Given the description of an element on the screen output the (x, y) to click on. 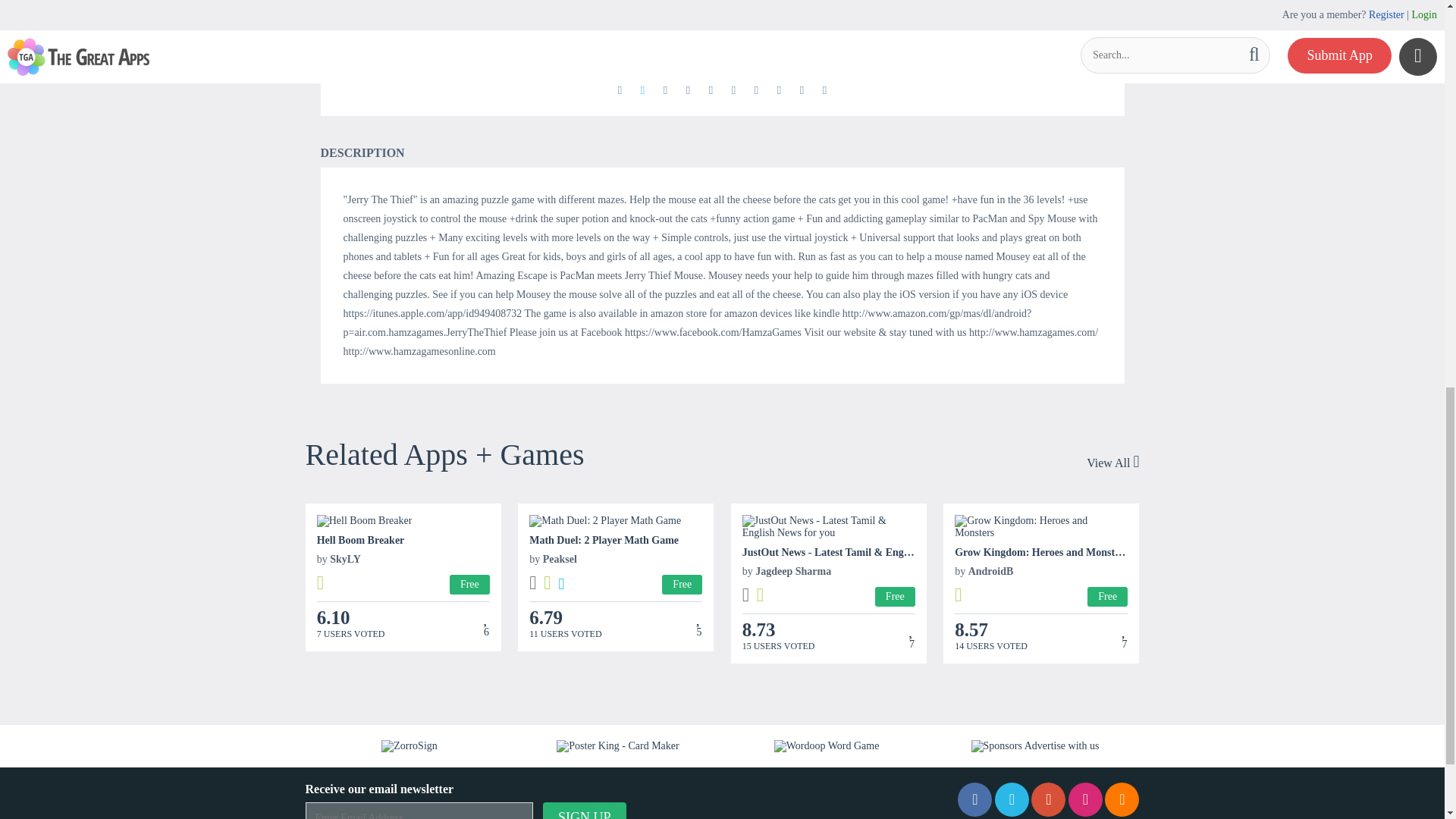
Sponsors Advertise with us (1035, 746)
Rss (1121, 799)
Sign up (584, 810)
Instagram (1085, 799)
Wordoop Word Game (826, 746)
Poster King - Card Maker (617, 746)
ZorroSign (409, 746)
Twitter (1011, 799)
Pinterest (1047, 799)
Facebook (974, 799)
